Given the description of an element on the screen output the (x, y) to click on. 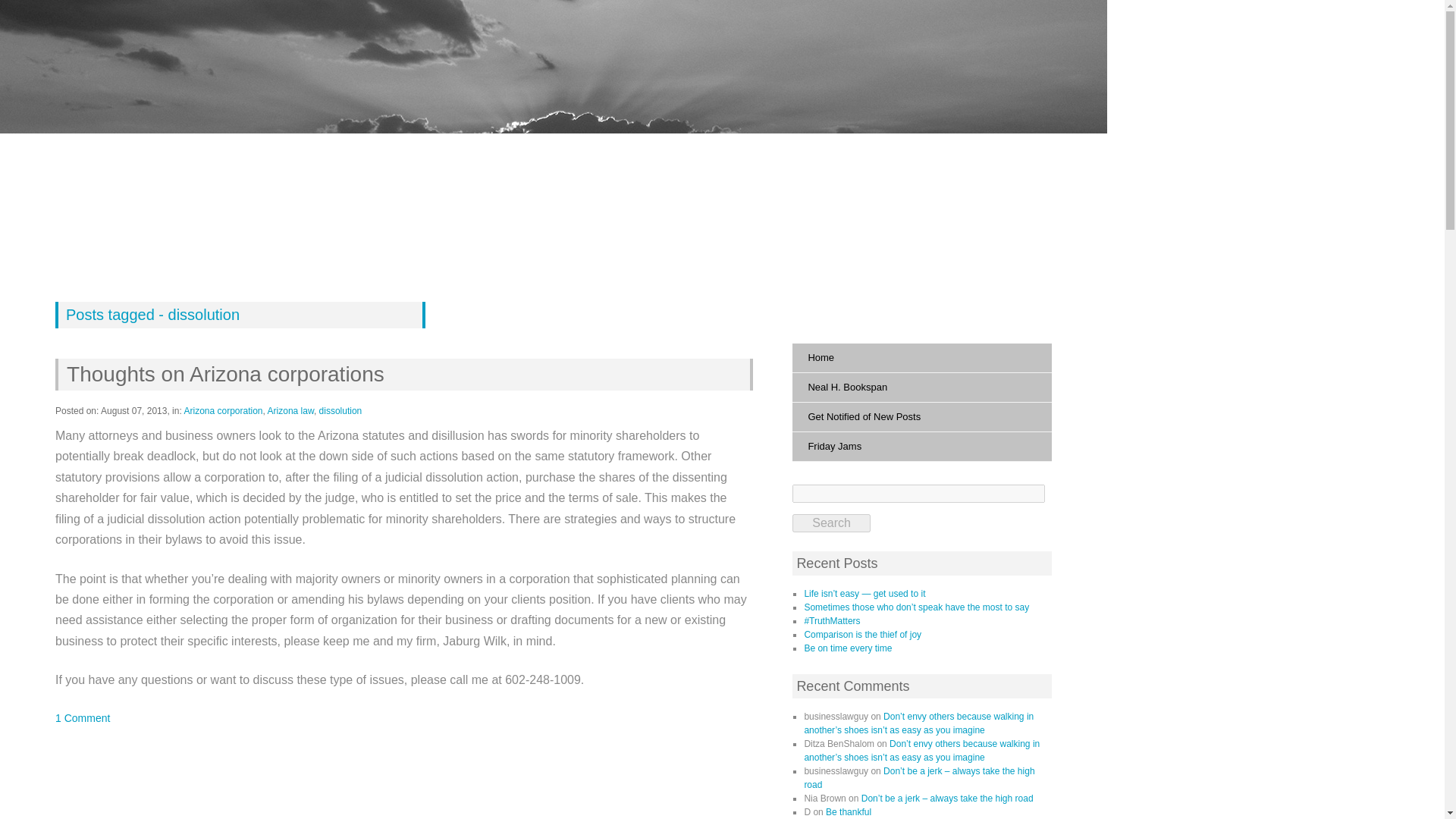
Search (830, 523)
Home (921, 357)
Neal H. Bookspan (921, 387)
BusinessLawGuy's Blog (209, 222)
Get Notified of New Posts (921, 416)
1 Comment (82, 717)
Be thankful (847, 811)
Arizona corporation (222, 410)
Arizona law (290, 410)
Search (830, 523)
